Given the description of an element on the screen output the (x, y) to click on. 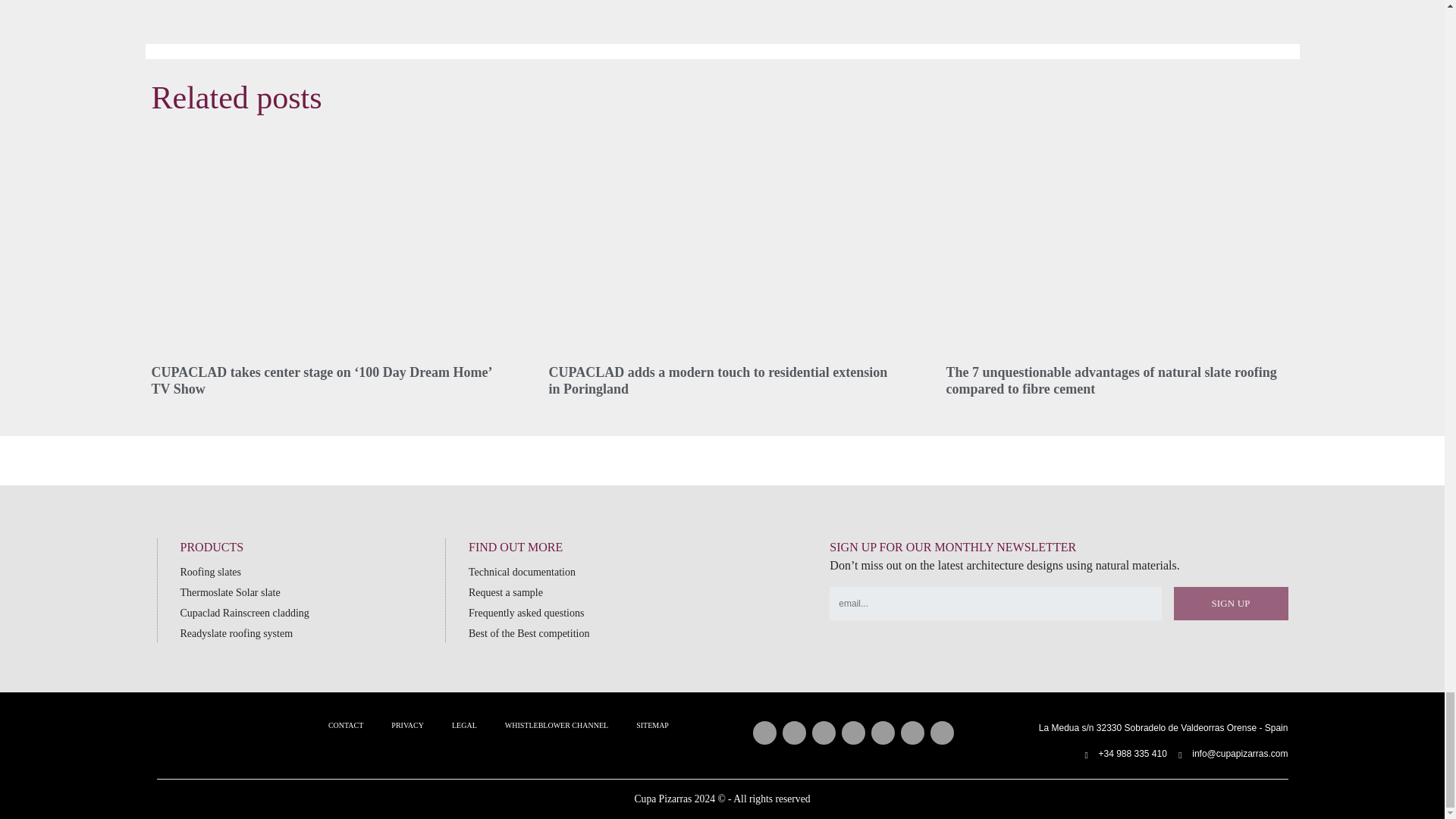
SIGN UP (1230, 603)
